Given the description of an element on the screen output the (x, y) to click on. 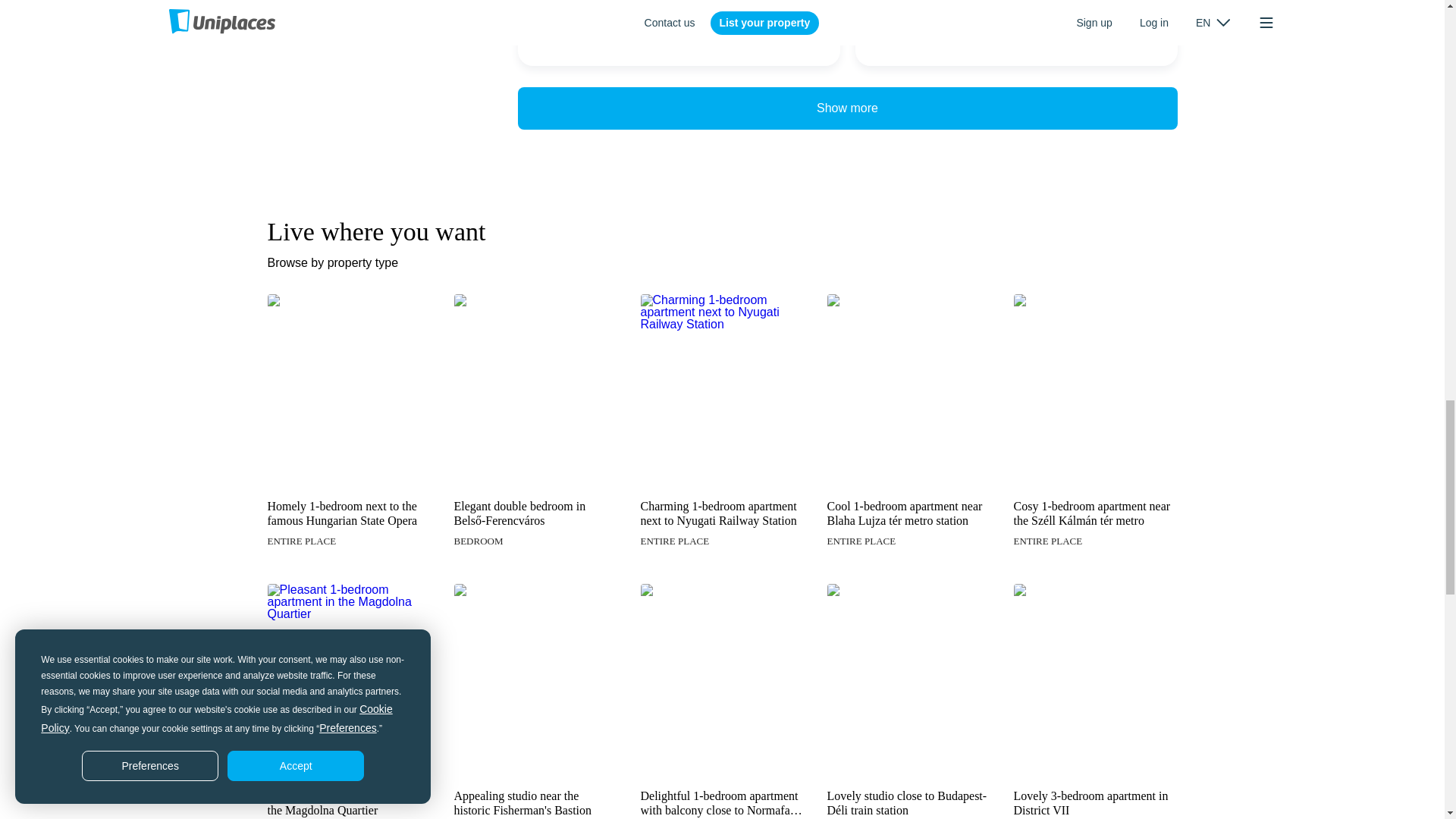
Show more (846, 107)
